Given the description of an element on the screen output the (x, y) to click on. 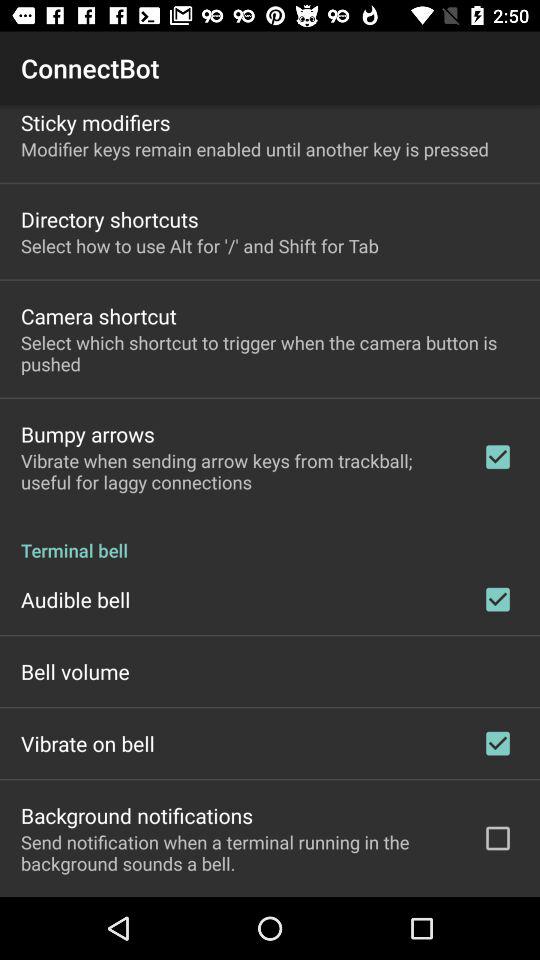
jump until the sticky modifiers app (95, 122)
